Given the description of an element on the screen output the (x, y) to click on. 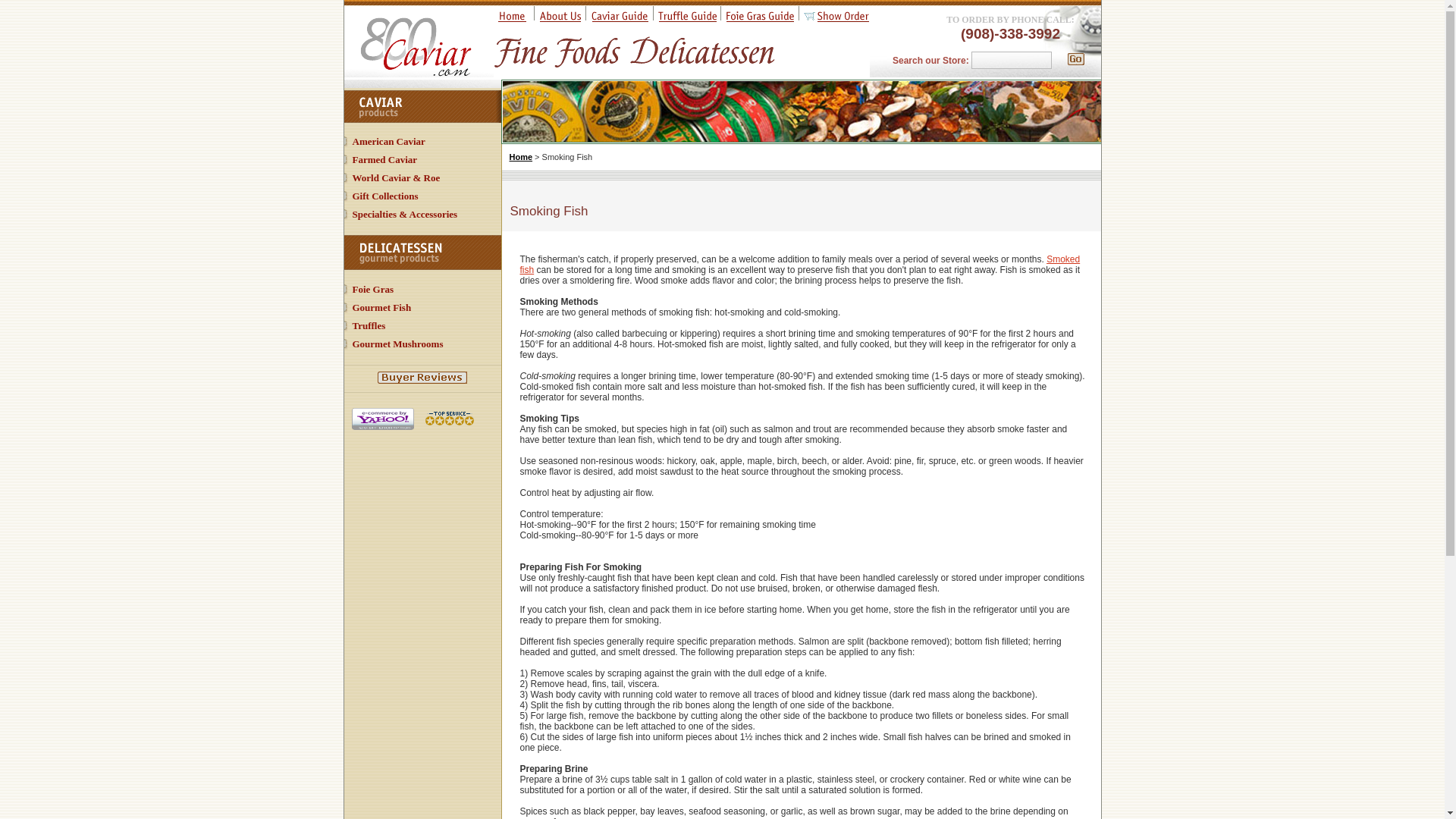
Gift Collections (384, 195)
Show Order (836, 19)
Truffles and Truffle Specialties from Italy  and Asia (368, 325)
World famous Foie Gras from France and Canada (372, 288)
DELICATESSEN  gourmet products (421, 252)
Gourmet  Mushrooms  (397, 343)
Home (520, 156)
800-Caviar.com - About Us (559, 19)
Gourmet Fish (381, 307)
Truffles (368, 325)
FOIE GRAS Guide and Articles (759, 19)
Gourmet Mushrooms (397, 343)
CAVIAR products (421, 106)
